Given the description of an element on the screen output the (x, y) to click on. 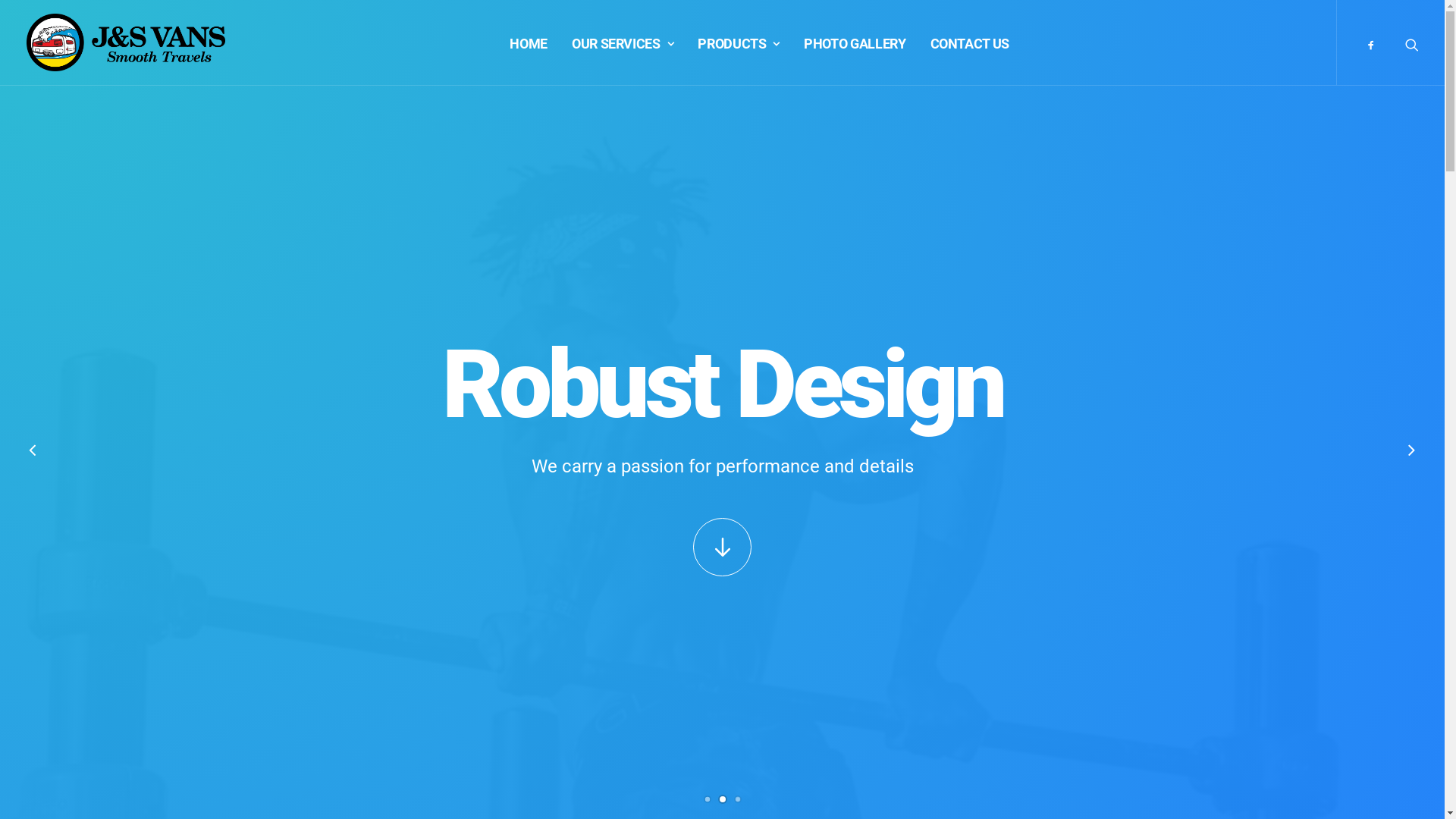
PHOTO GALLERY Element type: text (854, 42)
CONTACT US Element type: text (969, 42)
HOME Element type: text (528, 42)
OUR SERVICES Element type: text (622, 42)
PRODUCTS Element type: text (738, 42)
